Given the description of an element on the screen output the (x, y) to click on. 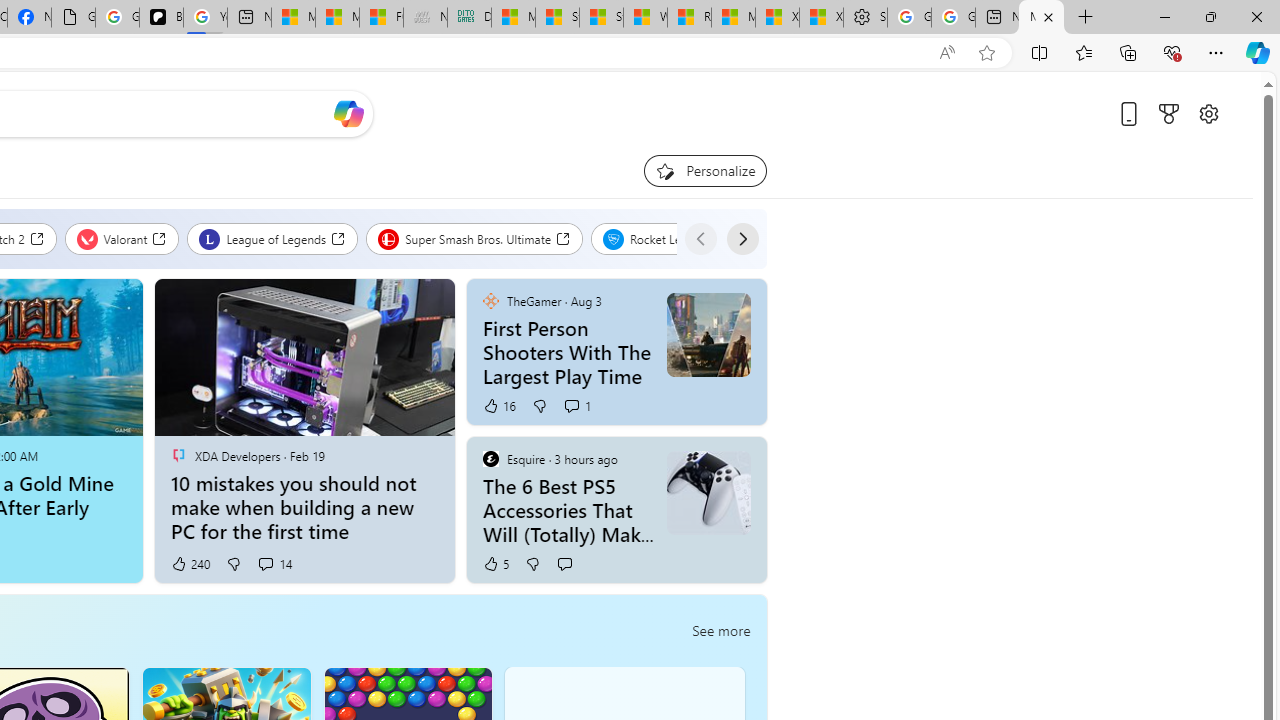
5 Like (495, 564)
Valorant (122, 238)
R******* | Trusted Community Engagement and Contributions (689, 17)
240 Like (189, 564)
Dislike (532, 564)
View comments 1 Comment (577, 405)
